Given the description of an element on the screen output the (x, y) to click on. 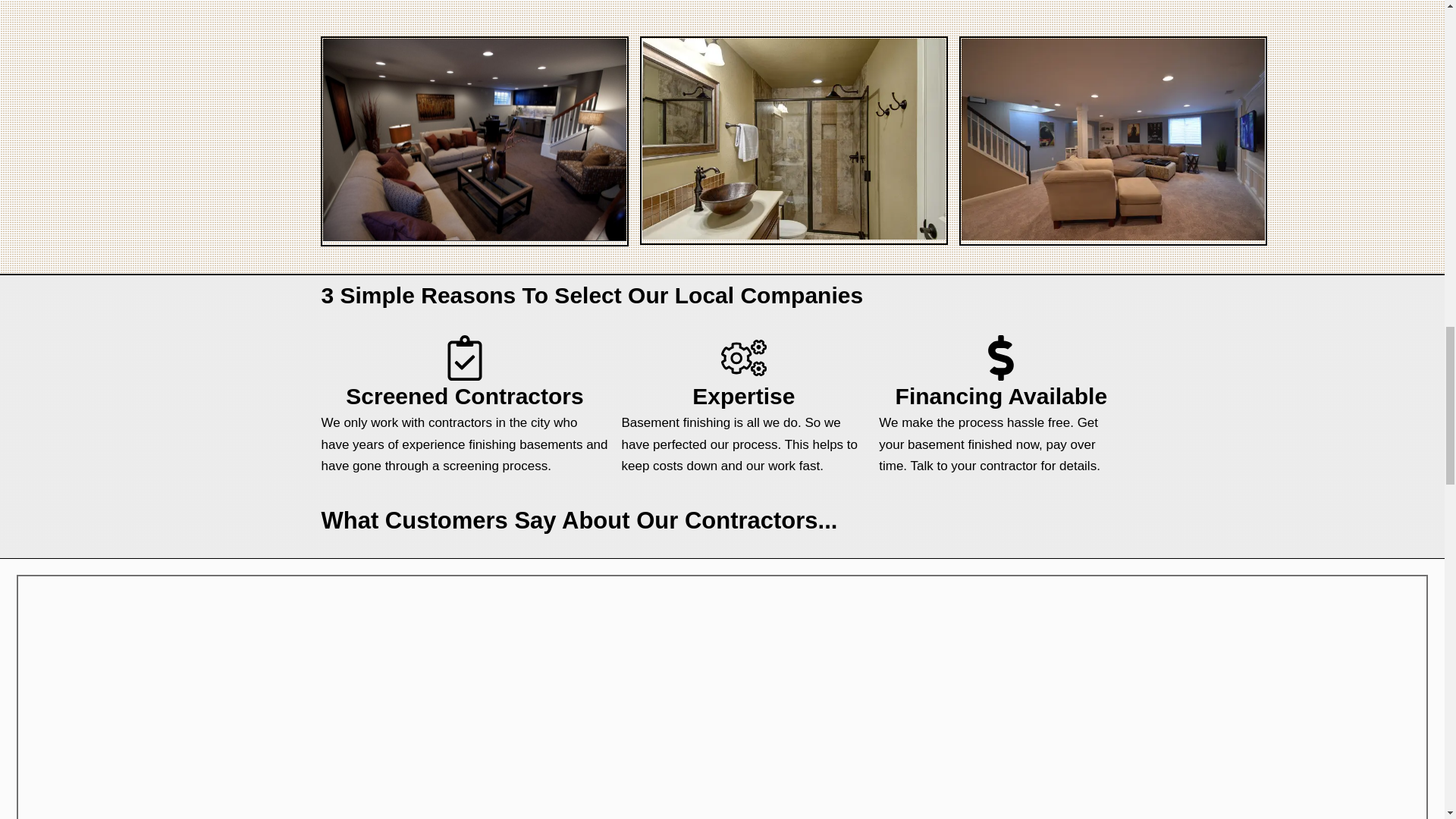
basement-bathroom (793, 138)
basement-design (474, 139)
basement remodeling finishing new albany ohio (1112, 139)
